Given the description of an element on the screen output the (x, y) to click on. 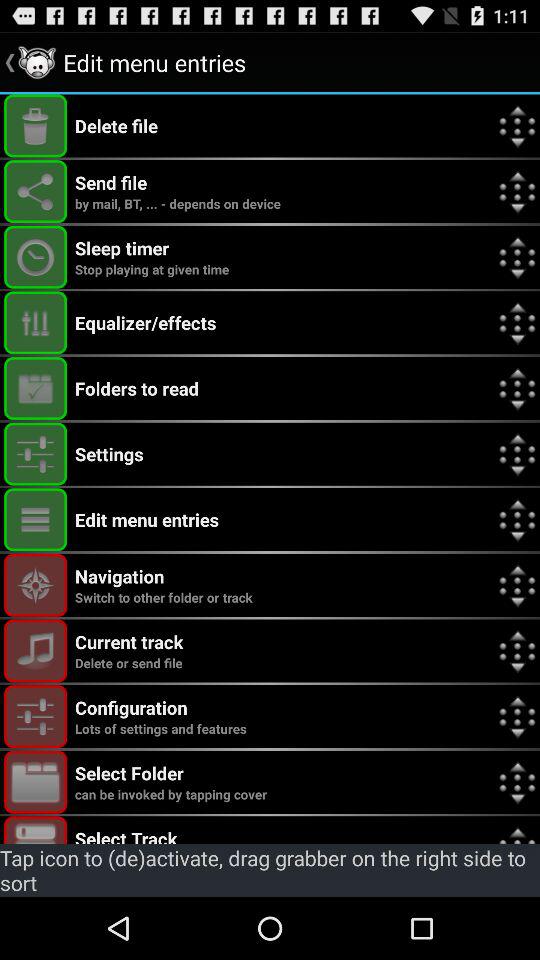
open sleep timer (35, 256)
